Given the description of an element on the screen output the (x, y) to click on. 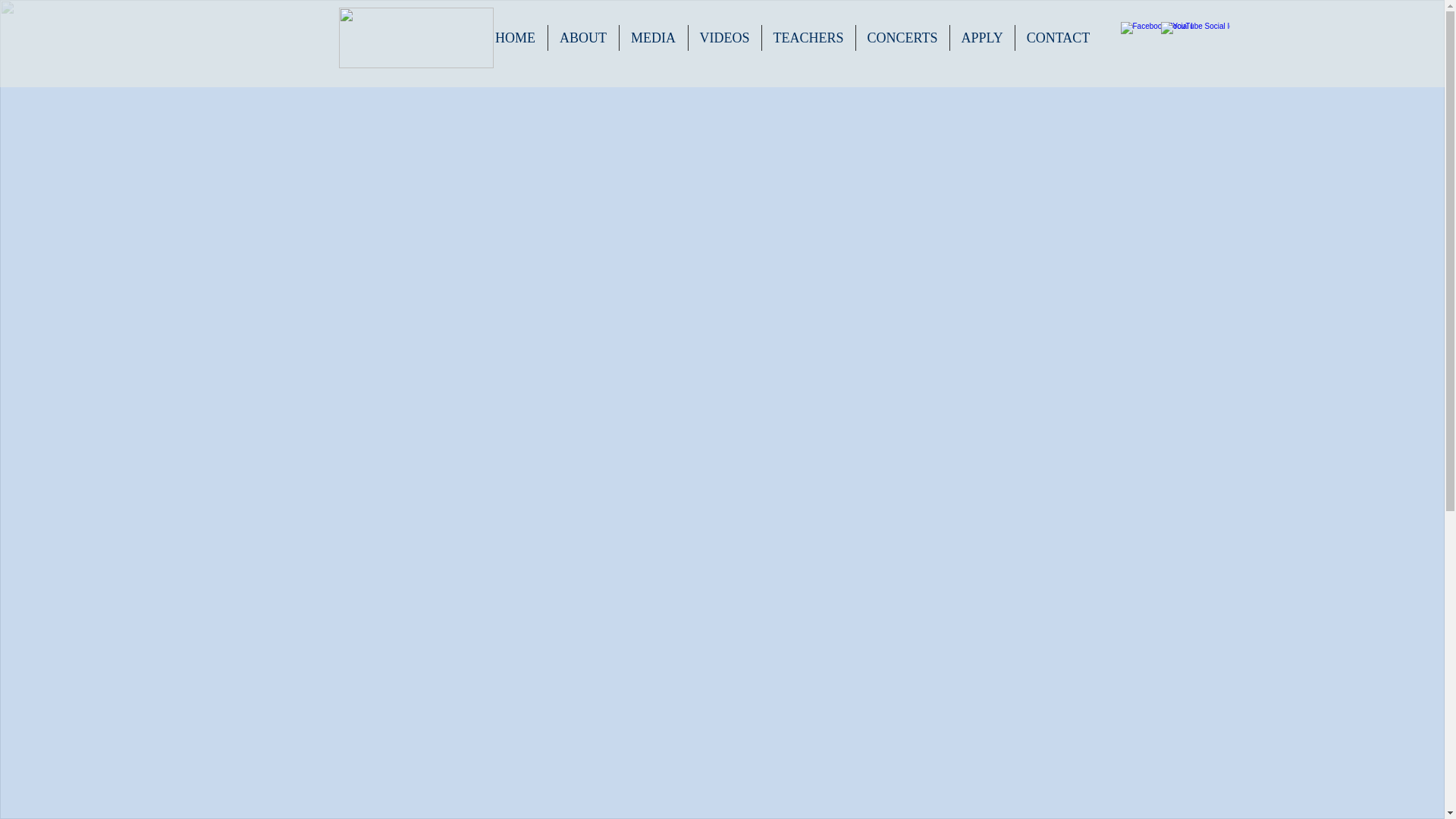
TEACHERS (807, 37)
VIDEOS (724, 37)
HOME (515, 37)
CONCERTS (902, 37)
CONTACT (1057, 37)
